Given the description of an element on the screen output the (x, y) to click on. 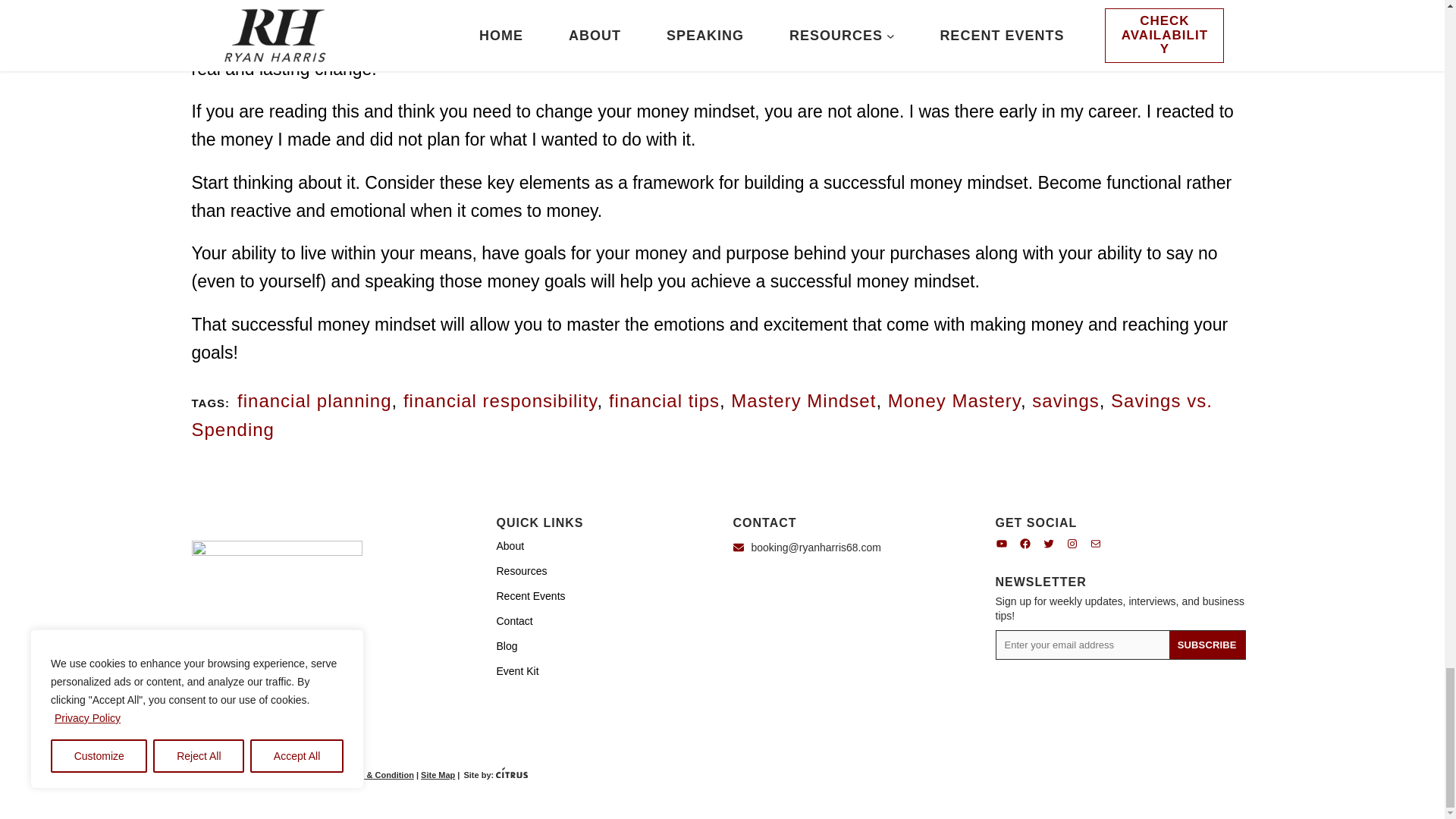
Subscribe (1206, 644)
